Given the description of an element on the screen output the (x, y) to click on. 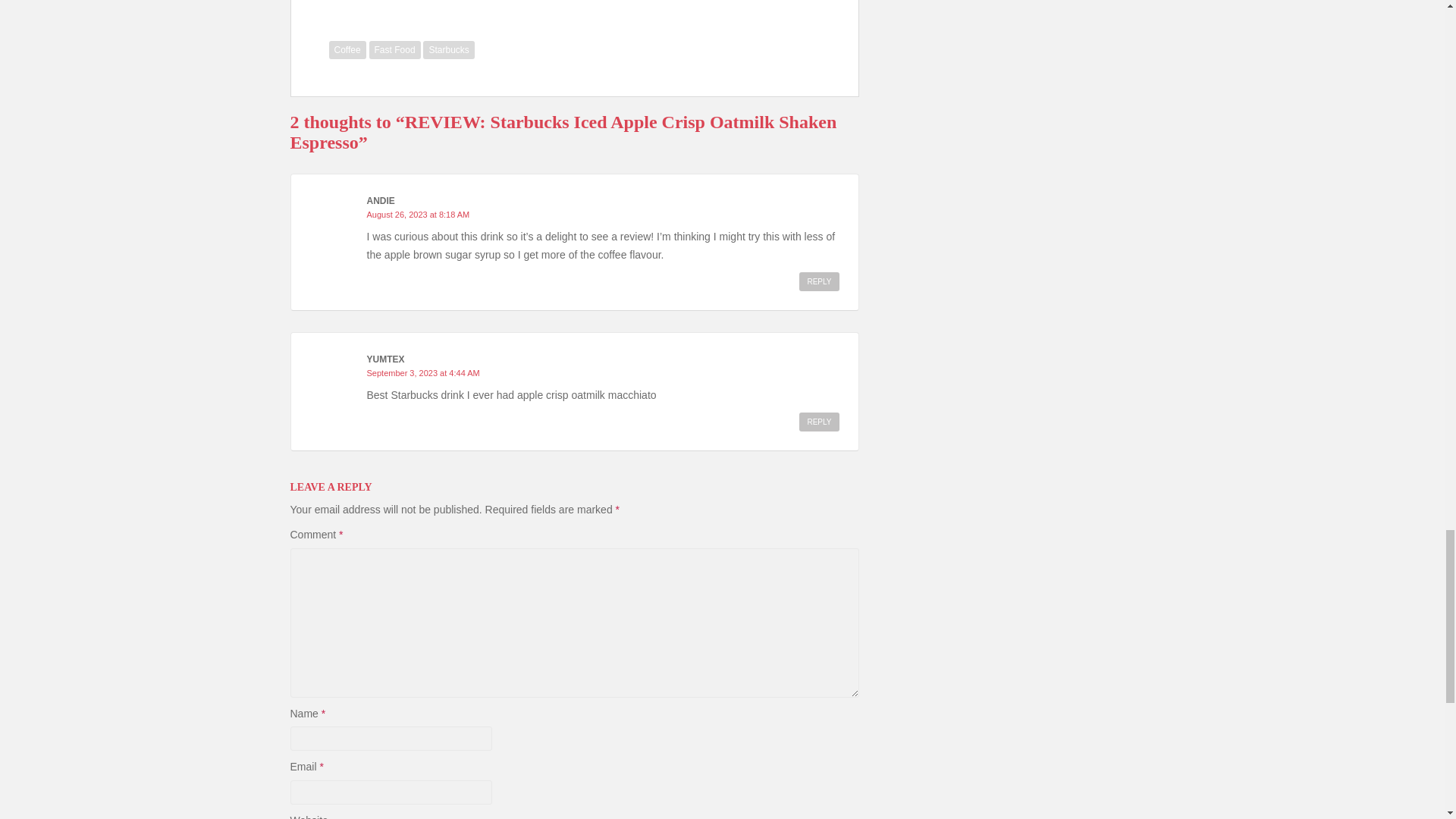
REPLY (818, 281)
Starbucks (448, 49)
August 26, 2023 at 8:18 AM (418, 214)
September 3, 2023 at 4:44 AM (423, 372)
Coffee (347, 49)
Fast Food (394, 49)
REPLY (818, 421)
